Given the description of an element on the screen output the (x, y) to click on. 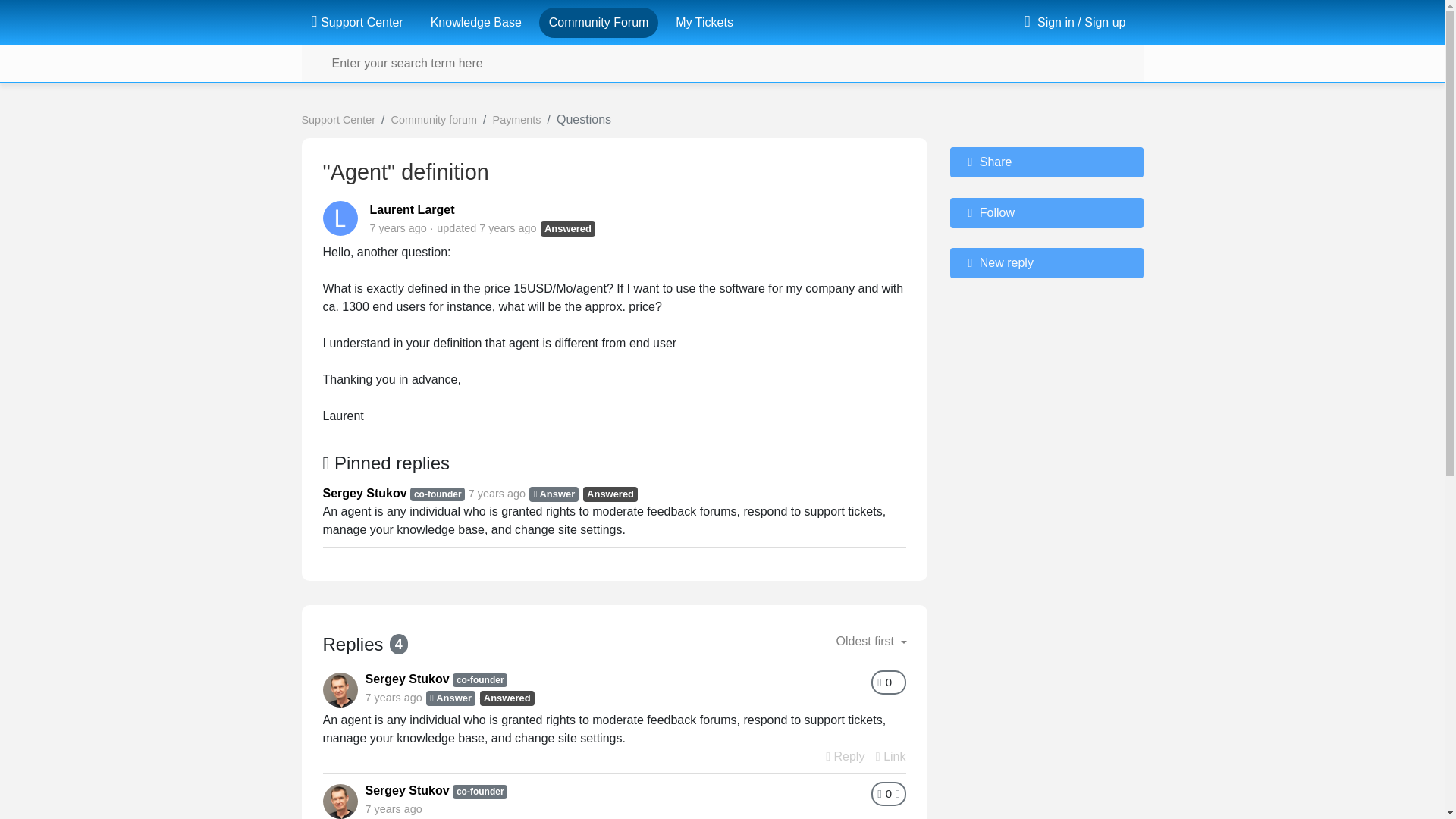
Reply (844, 756)
New reply (1045, 263)
March 13, 2017 9:06 a.m. (496, 493)
Sergey Stukov (407, 789)
Community forum (434, 119)
Payments (517, 119)
Community Forum (599, 22)
Support Center (356, 22)
Knowledge Base (476, 22)
My Tickets (704, 22)
